Given the description of an element on the screen output the (x, y) to click on. 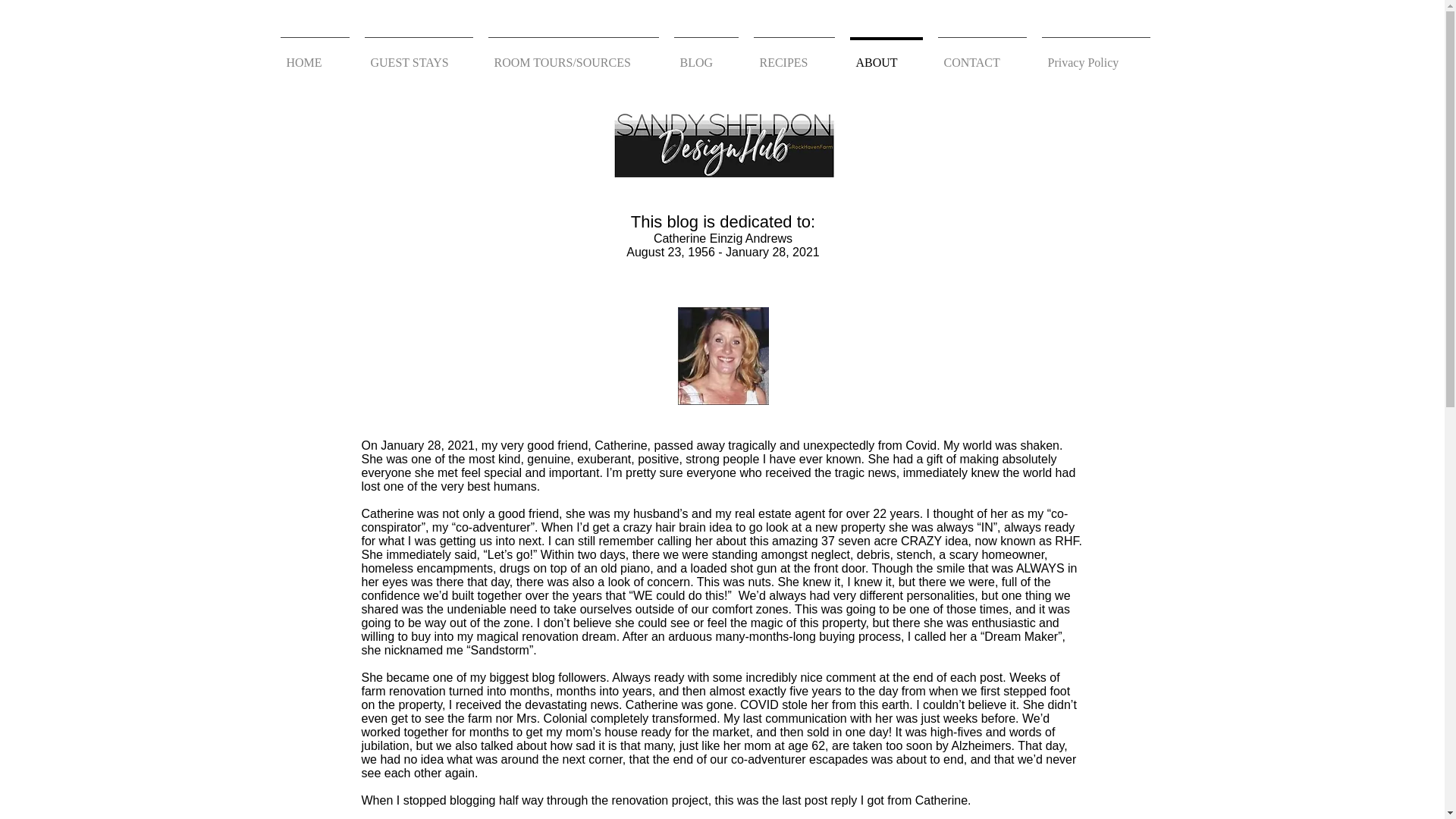
GUEST STAYS (418, 55)
ABOUT (885, 55)
HOME (314, 55)
RECIPES (794, 55)
BLOG (705, 55)
CONTACT (981, 55)
Privacy Policy (1095, 55)
